Given the description of an element on the screen output the (x, y) to click on. 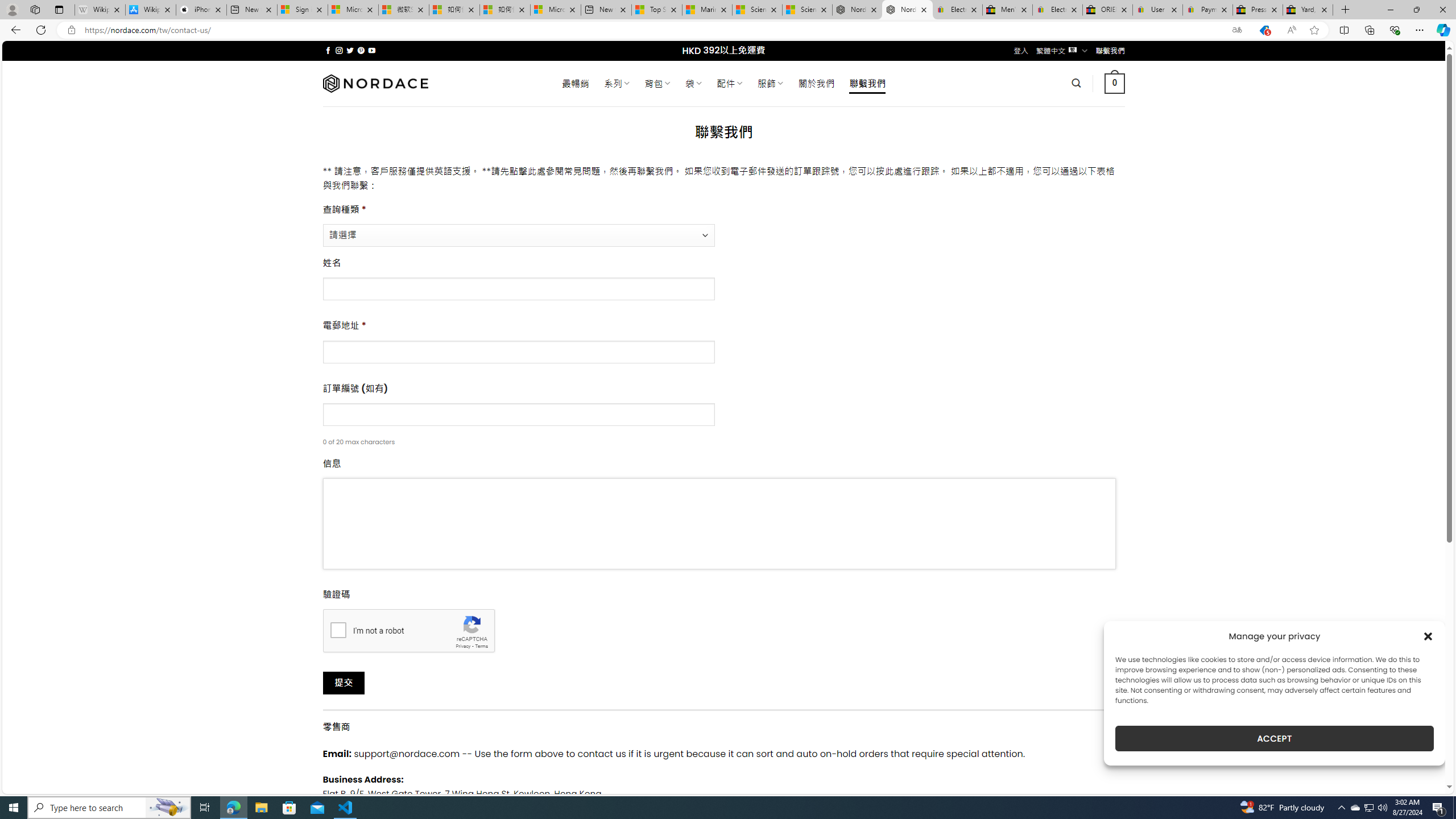
Yard, Garden & Outdoor Living (1308, 9)
Microsoft Services Agreement (352, 9)
Nordace - Summer Adventures 2024 (856, 9)
Sign in to your Microsoft account (302, 9)
